Given the description of an element on the screen output the (x, y) to click on. 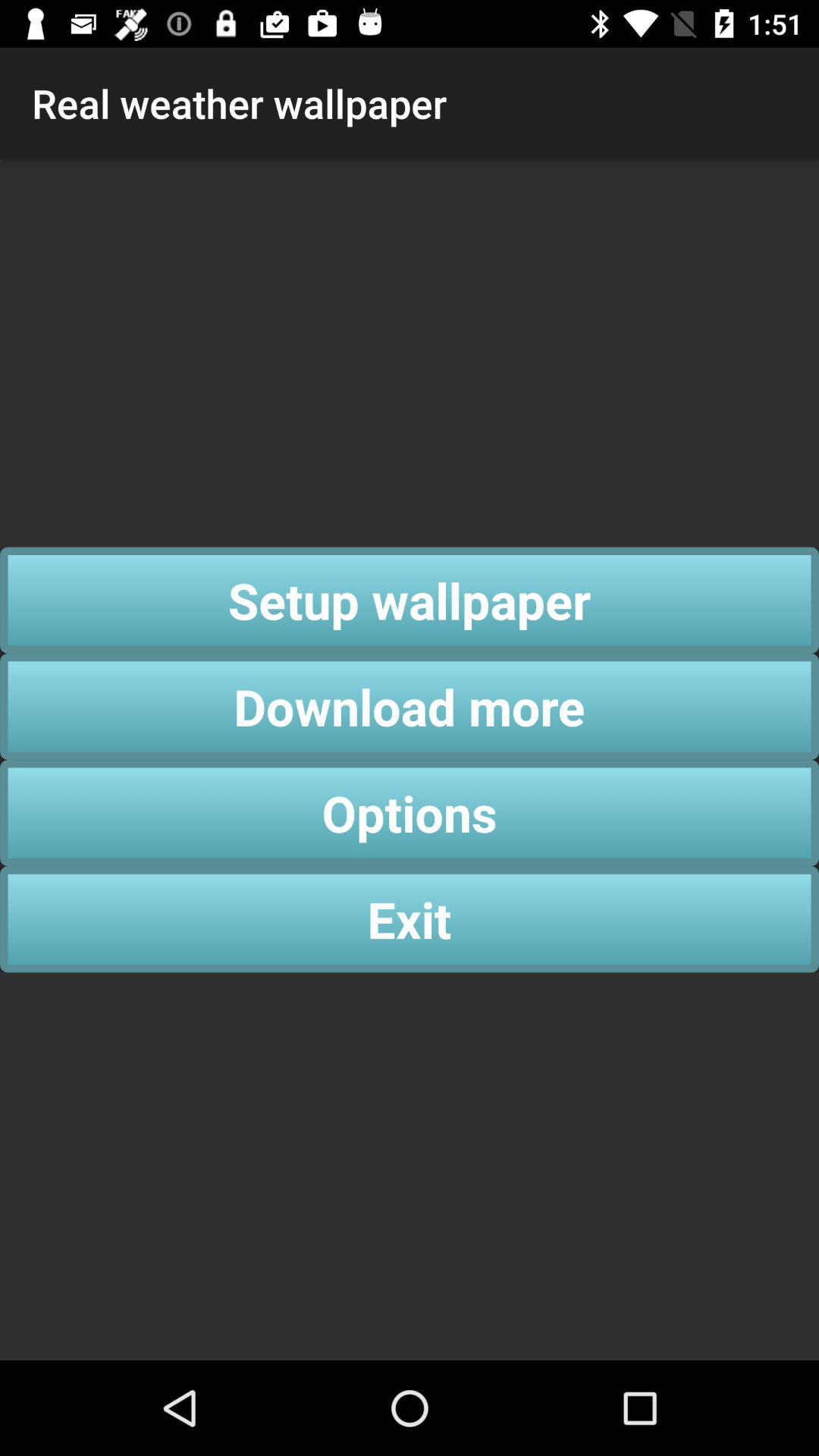
open the button above exit icon (409, 812)
